Given the description of an element on the screen output the (x, y) to click on. 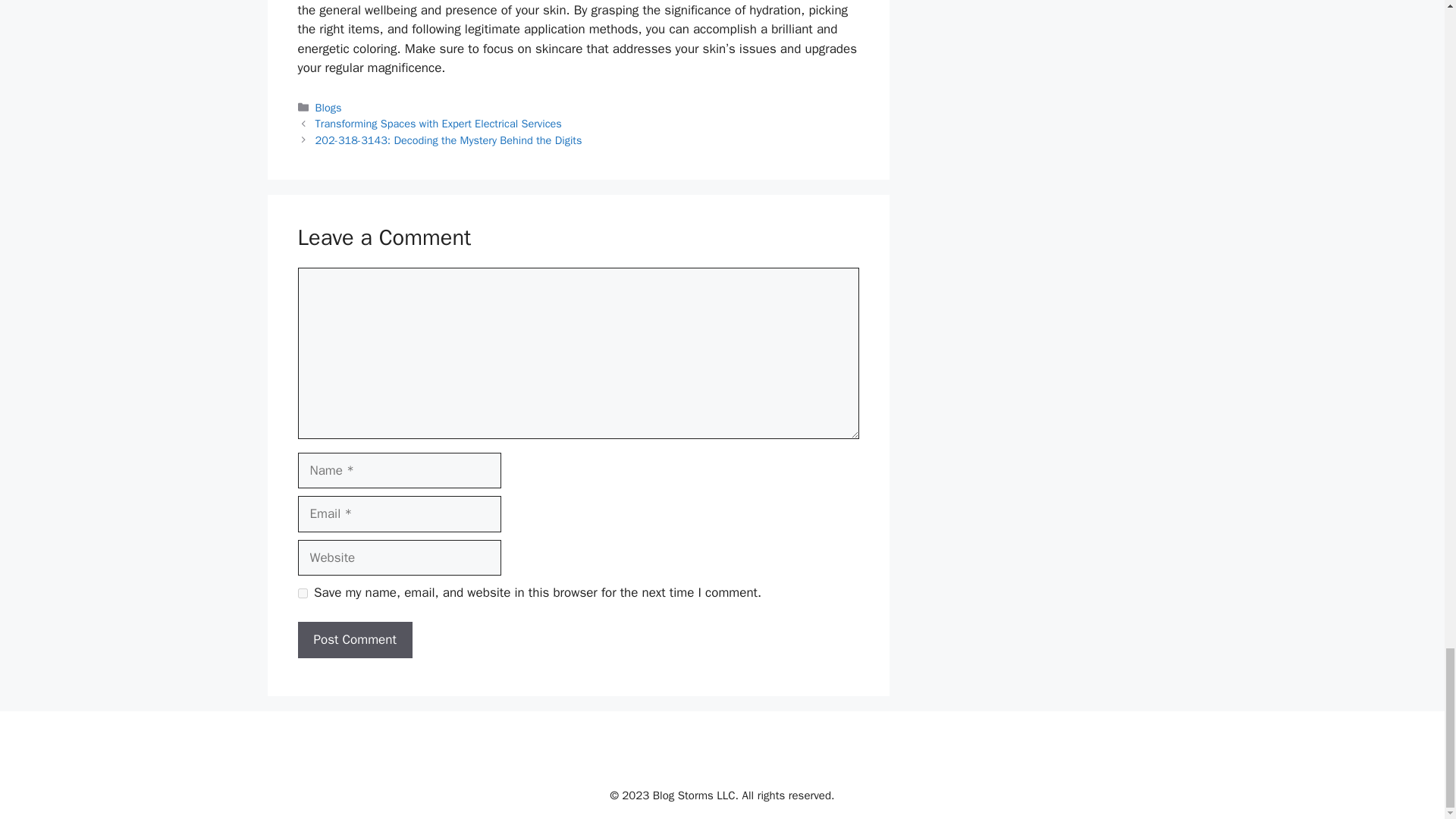
Post Comment (354, 639)
202-318-3143: Decoding the Mystery Behind the Digits (448, 140)
Post Comment (354, 639)
Blogs (328, 107)
Transforming Spaces with Expert Electrical Services (438, 123)
yes (302, 593)
